Given the description of an element on the screen output the (x, y) to click on. 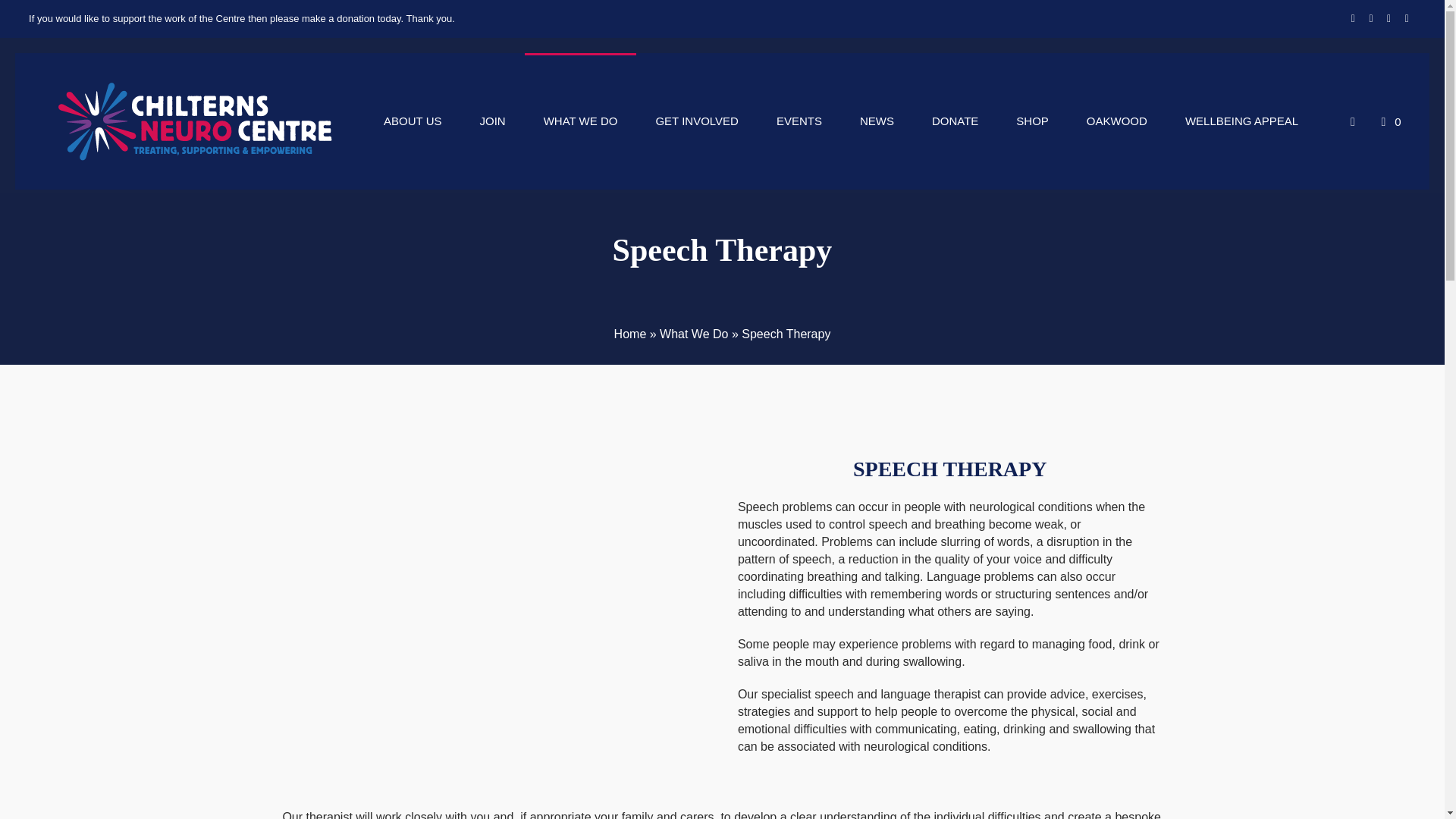
Linkedin (1406, 19)
Instagram (1388, 19)
Facebook (1352, 19)
Twitter (1371, 19)
make a donation (337, 17)
